Given the description of an element on the screen output the (x, y) to click on. 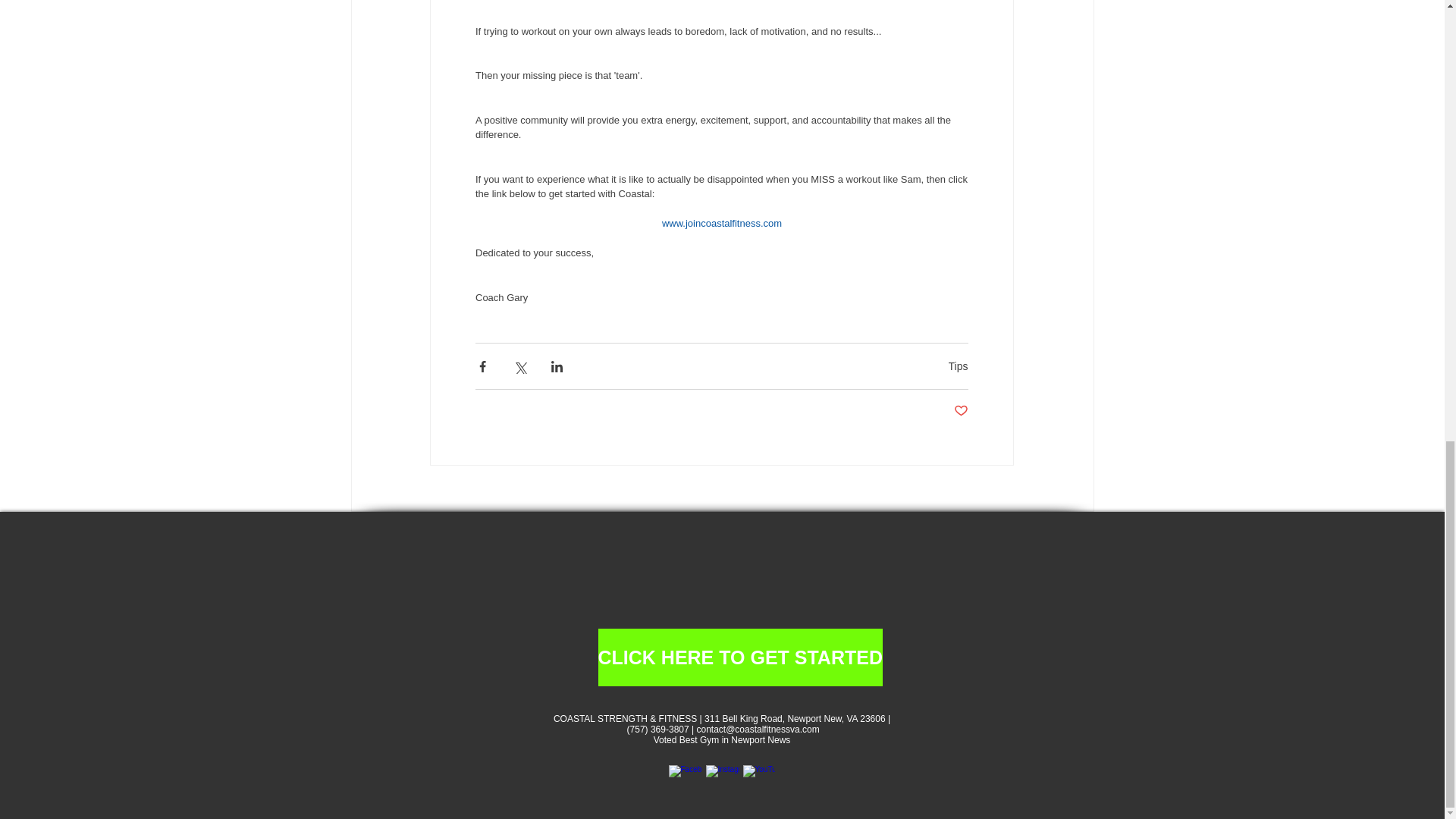
www.joincoastalfitness.com (720, 223)
Post not marked as liked (960, 411)
Tips (958, 366)
CLICK HERE TO GET STARTED (739, 657)
